Given the description of an element on the screen output the (x, y) to click on. 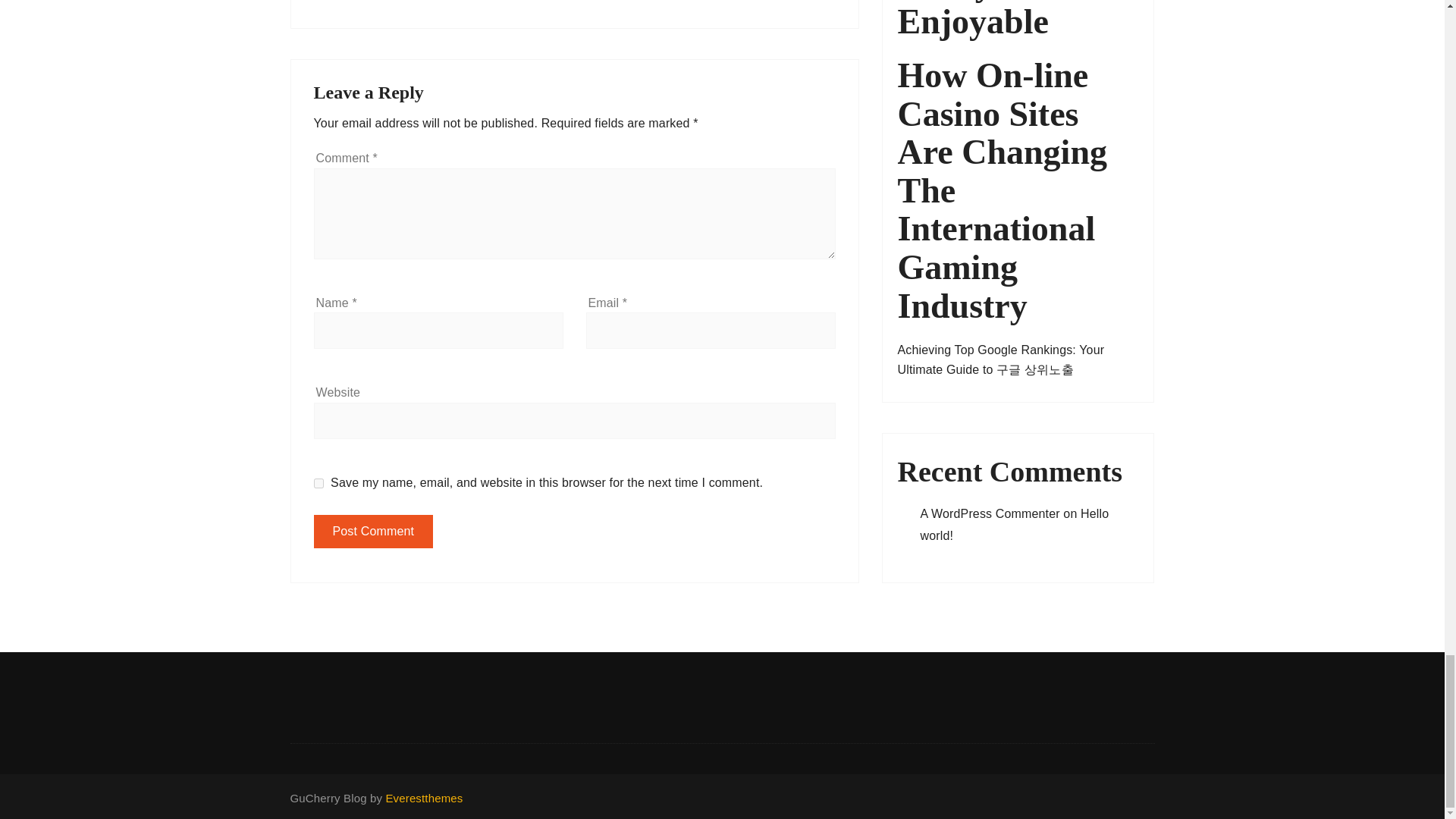
yes (318, 483)
Post Comment (373, 531)
Post Comment (373, 531)
